Given the description of an element on the screen output the (x, y) to click on. 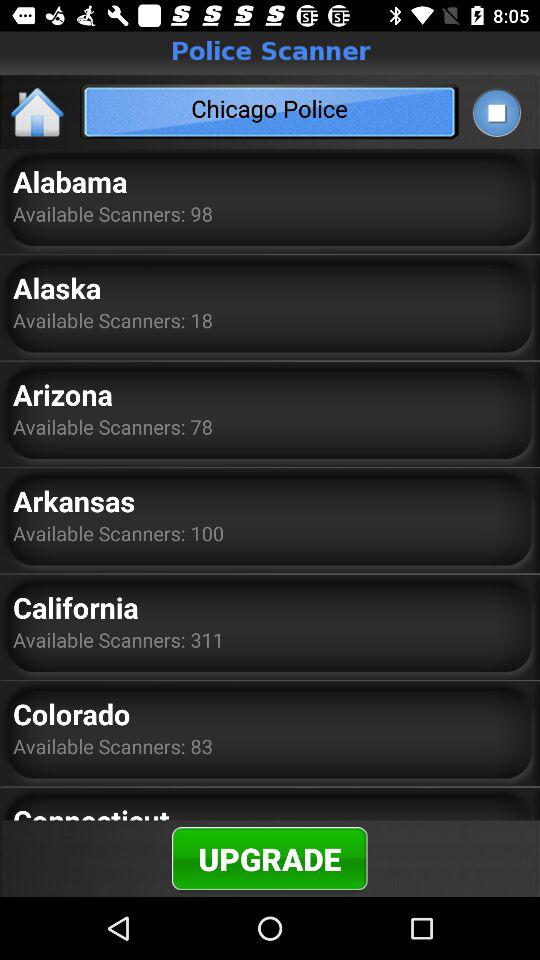
launch the item below the available scanners: 83 icon (91, 810)
